Given the description of an element on the screen output the (x, y) to click on. 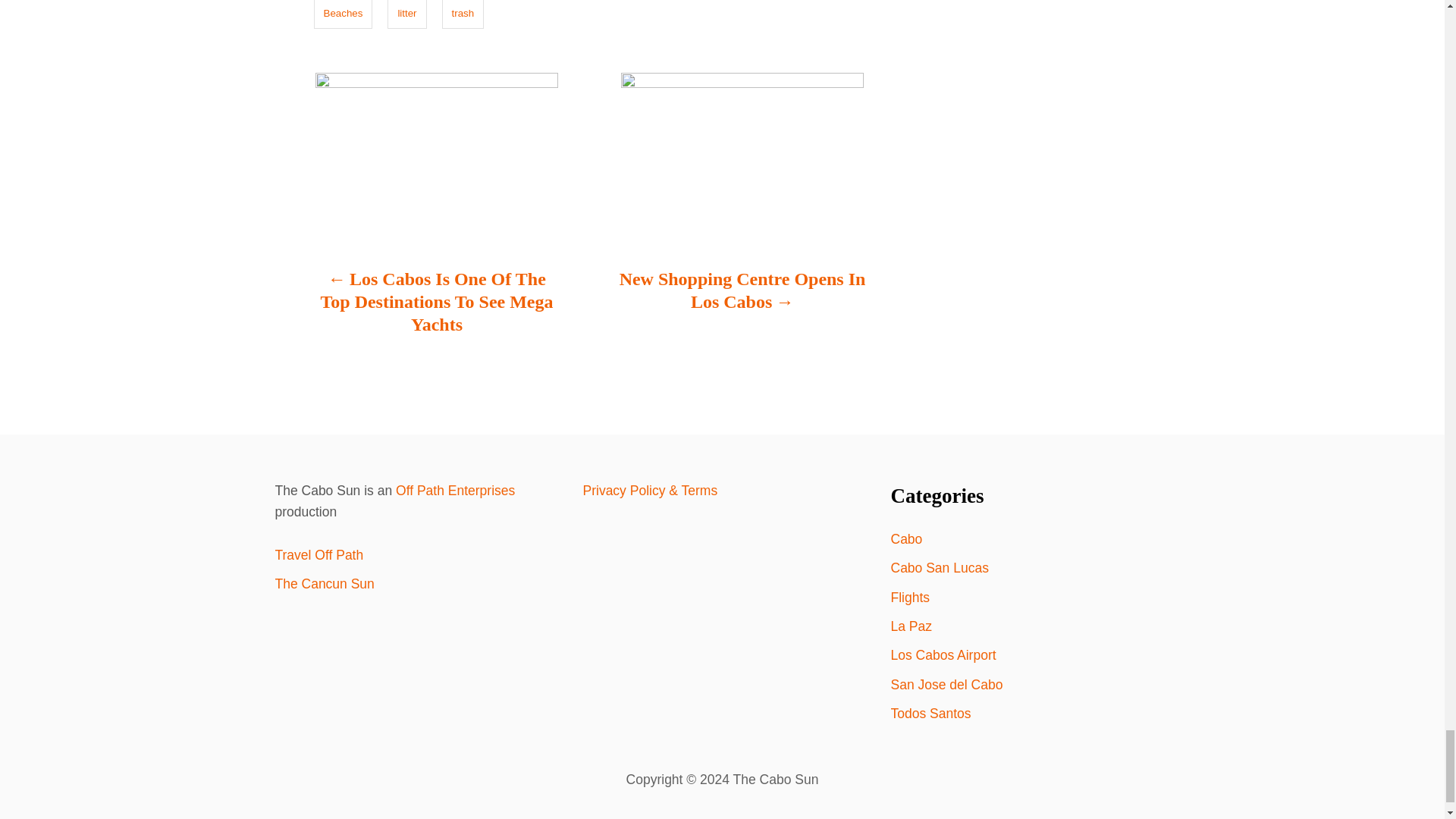
Los Cabos Is One Of The Top Destinations To See Mega Yachts (437, 309)
litter (406, 14)
trash (463, 14)
Beaches (343, 14)
New Shopping Centre Opens In Los Cabos (741, 297)
